Given the description of an element on the screen output the (x, y) to click on. 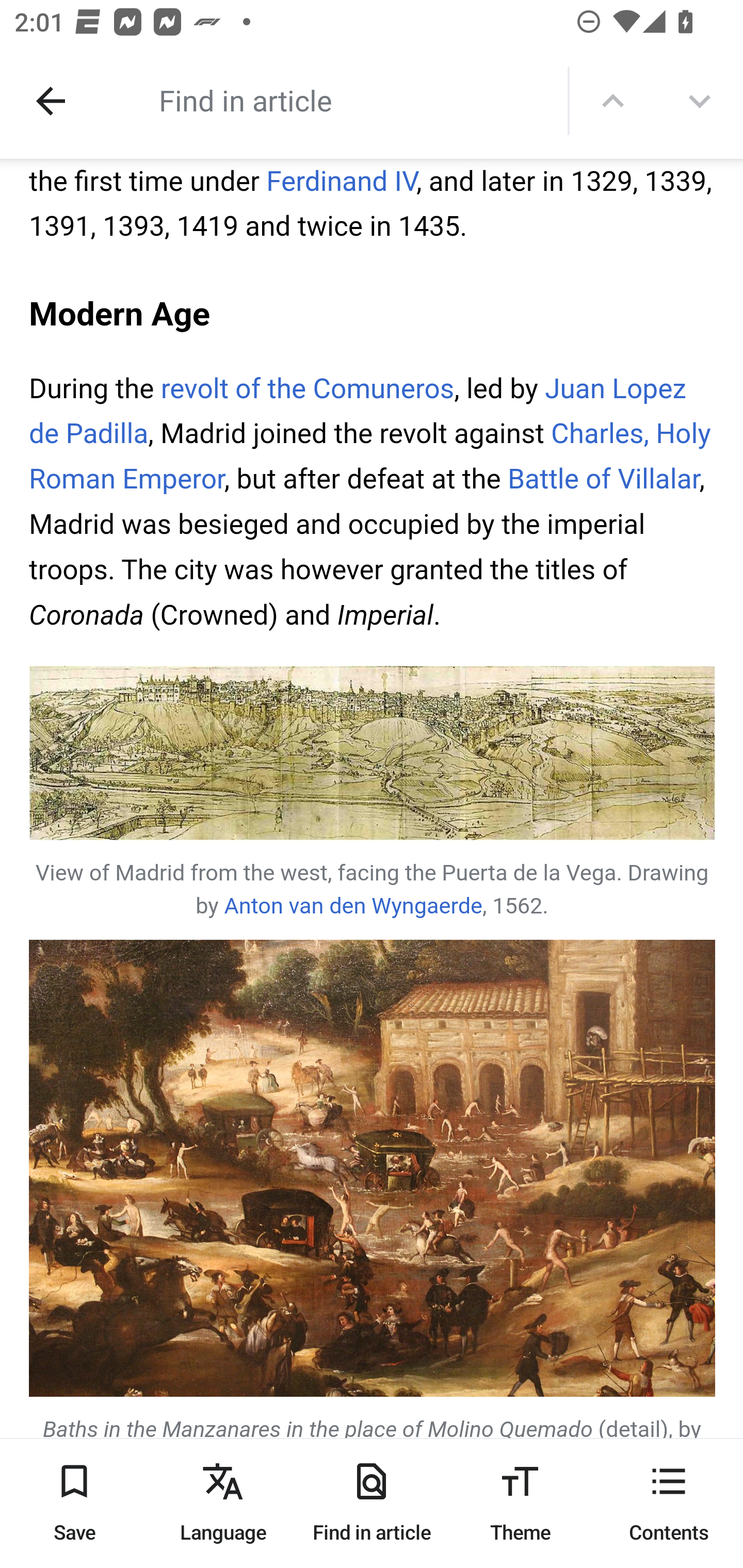
Done (50, 101)
Find previous (612, 101)
Find next (699, 101)
Find in article (334, 100)
Ferdinand IV (340, 183)
revolt of the Comuneros (306, 390)
Battle of Villalar (602, 481)
960px-Dibujo_madrid_1562 (372, 754)
Anton van den Wyngaerde (353, 907)
Save (74, 1502)
Language (222, 1502)
Find in article (371, 1502)
Theme (519, 1502)
Contents (668, 1502)
